Given the description of an element on the screen output the (x, y) to click on. 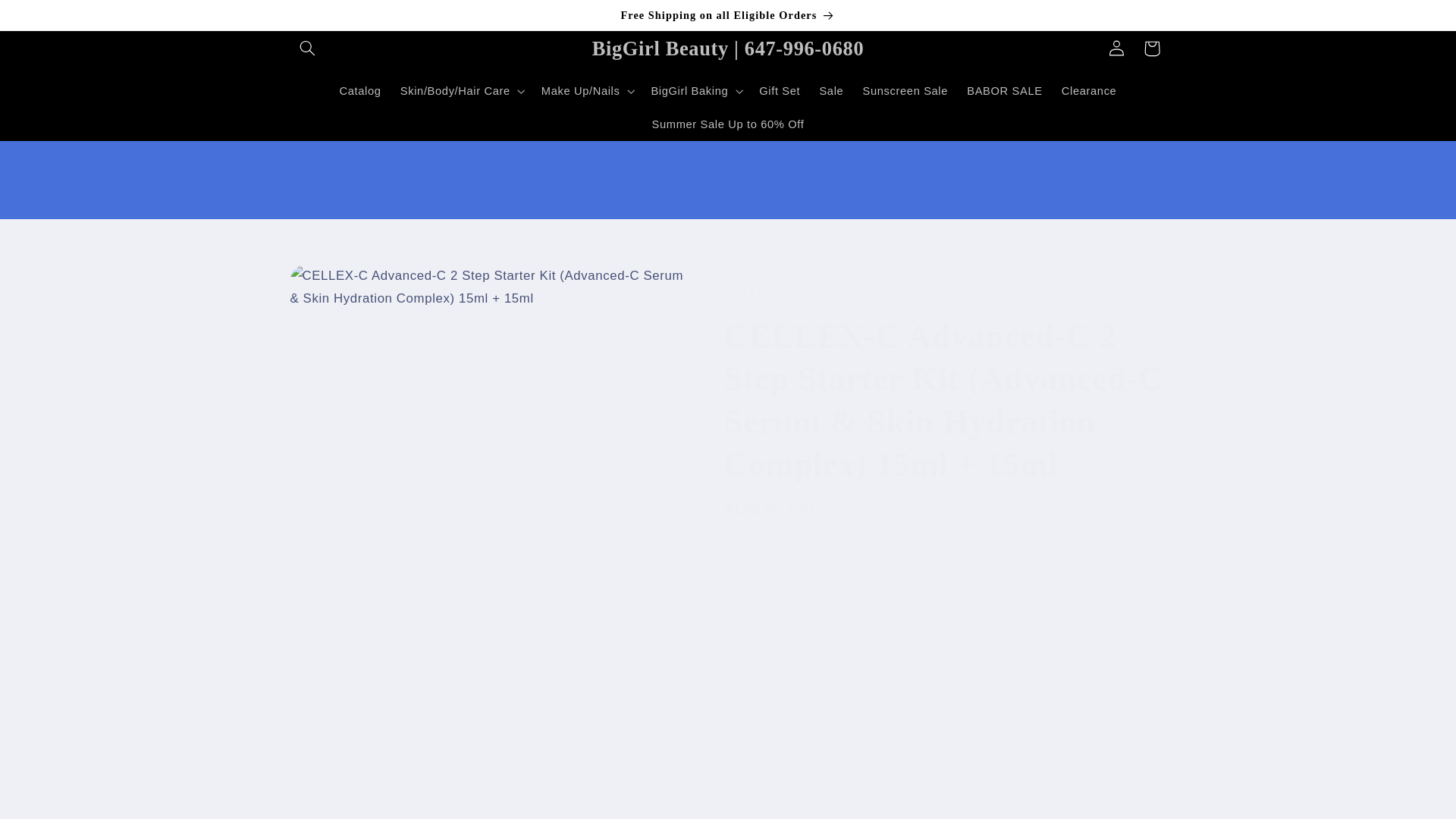
Free Shipping on all Eligible Orders (727, 15)
1 (777, 574)
Skip to content (48, 18)
